Given the description of an element on the screen output the (x, y) to click on. 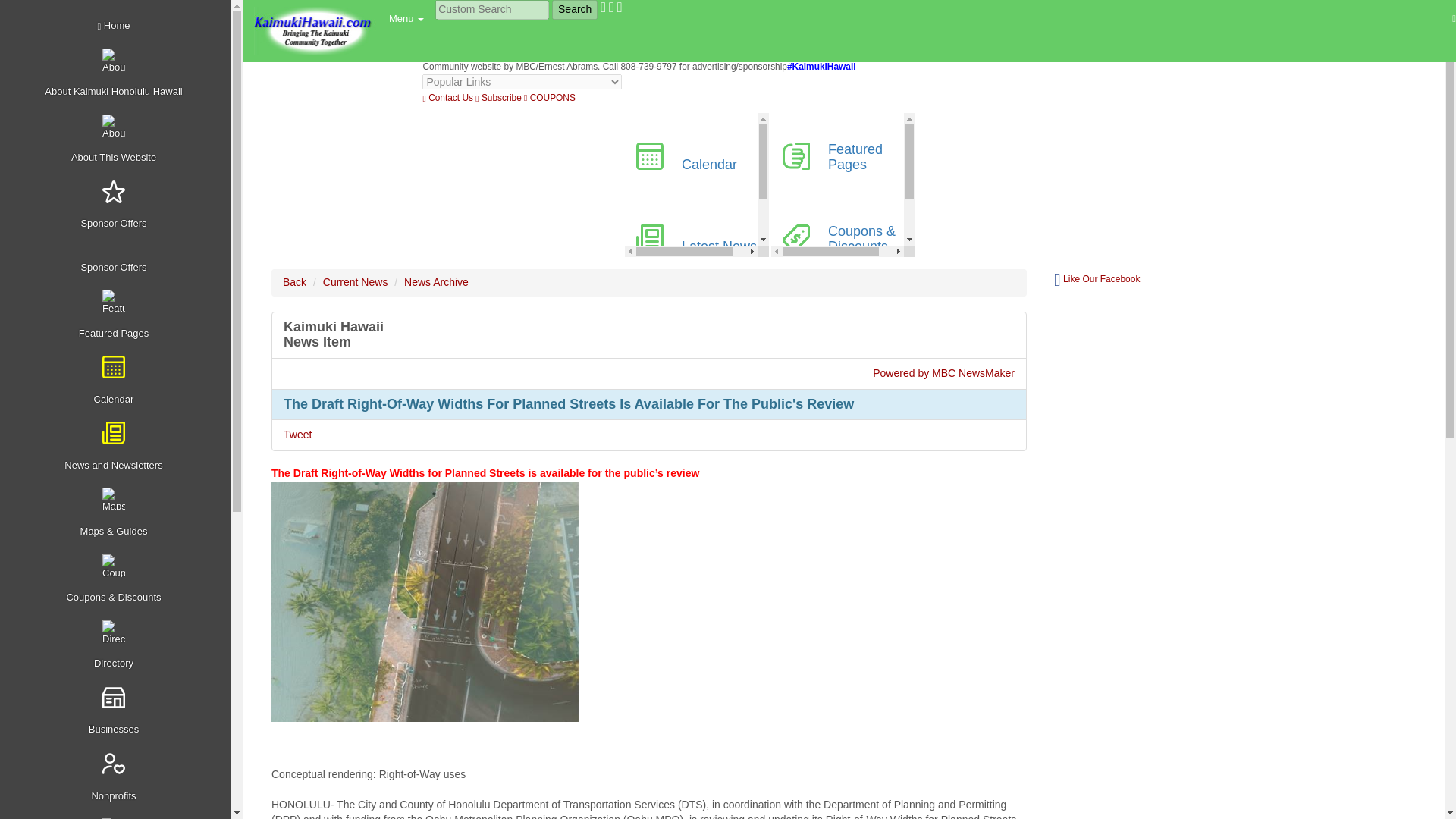
About This Website (117, 139)
News and Newsletters (117, 446)
Sponsor Offers (117, 205)
Sponsor Offers (117, 260)
Businesses (117, 711)
Search (573, 9)
Home (117, 25)
Directory (117, 645)
Featured Pages (117, 314)
Nonprofits (117, 777)
